Given the description of an element on the screen output the (x, y) to click on. 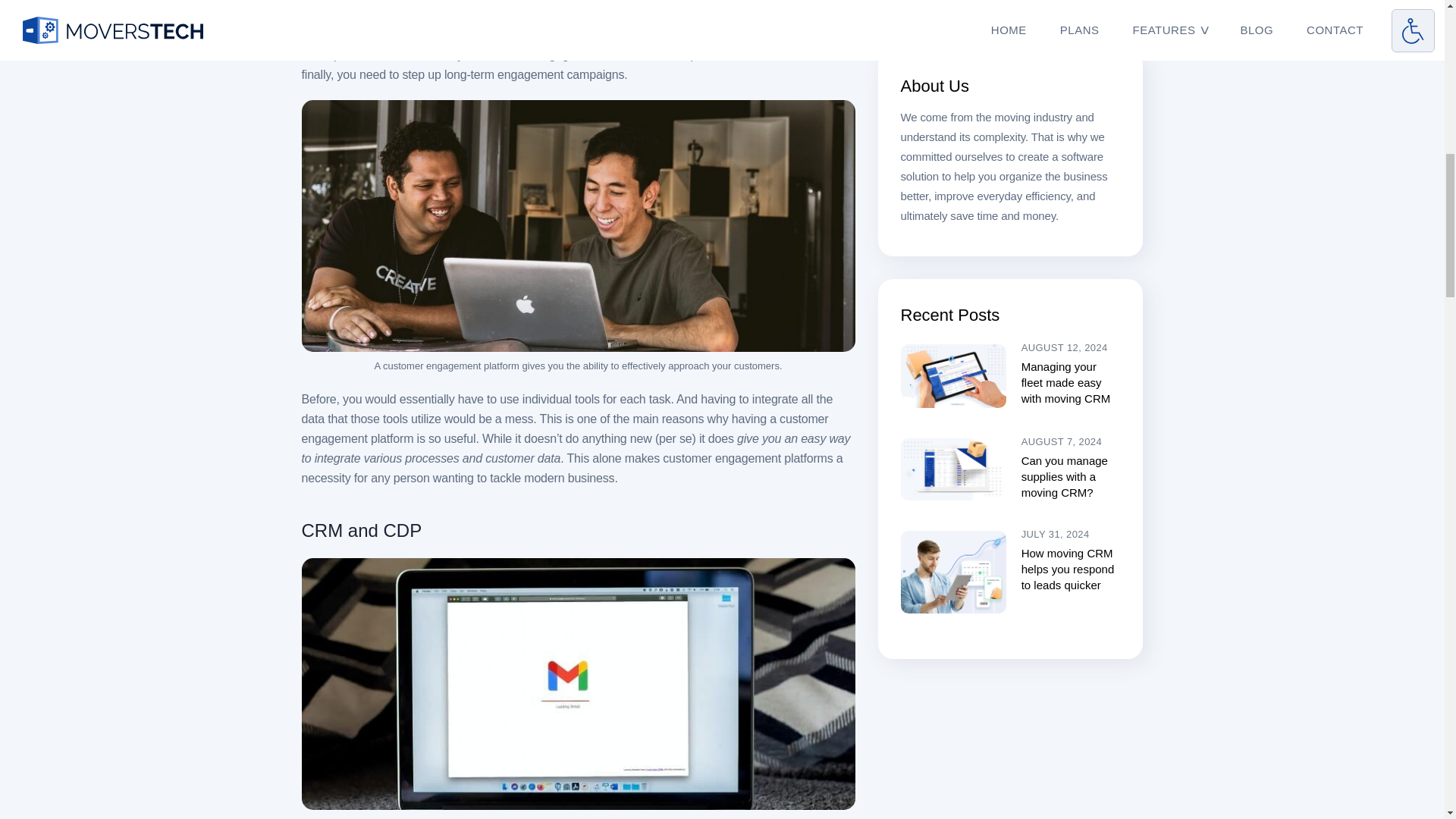
Can you manage supplies with a moving CRM? (953, 468)
 How moving CRM helps you respond to leads quicker (1068, 569)
Managing your fleet made easy with moving CRM (1066, 382)
 Managing your fleet made easy with moving CRM (1066, 382)
Managing your fleet made easy with moving CRM (953, 375)
How moving CRM helps you respond to leads quicker (1068, 569)
 Can you manage supplies with a moving CRM? (1065, 476)
Can you manage supplies with a moving CRM? (1065, 476)
How moving CRM helps you respond to leads quicker (953, 571)
